Given the description of an element on the screen output the (x, y) to click on. 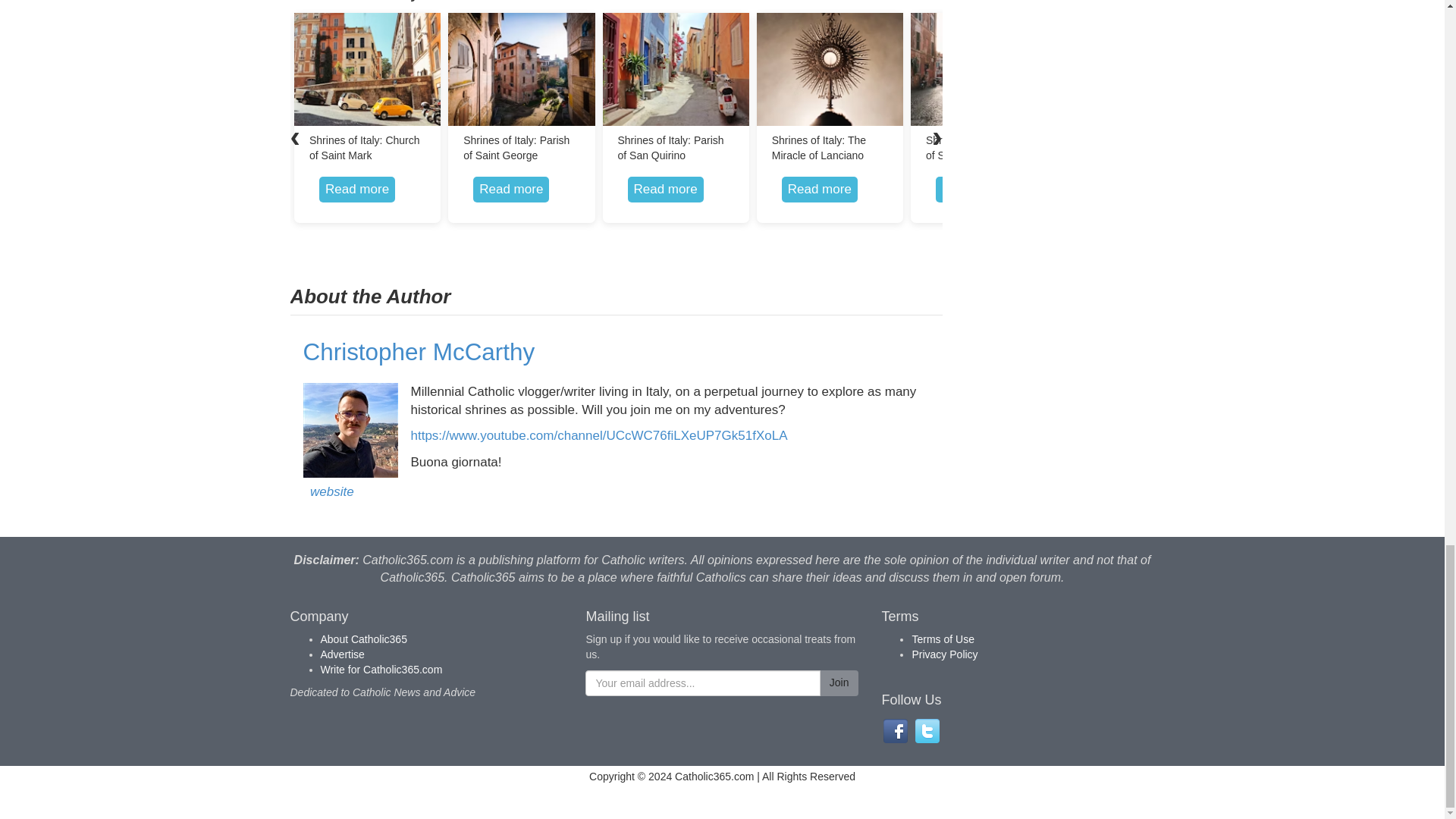
Join (839, 683)
Facebook (895, 730)
Twitter (927, 730)
